Given the description of an element on the screen output the (x, y) to click on. 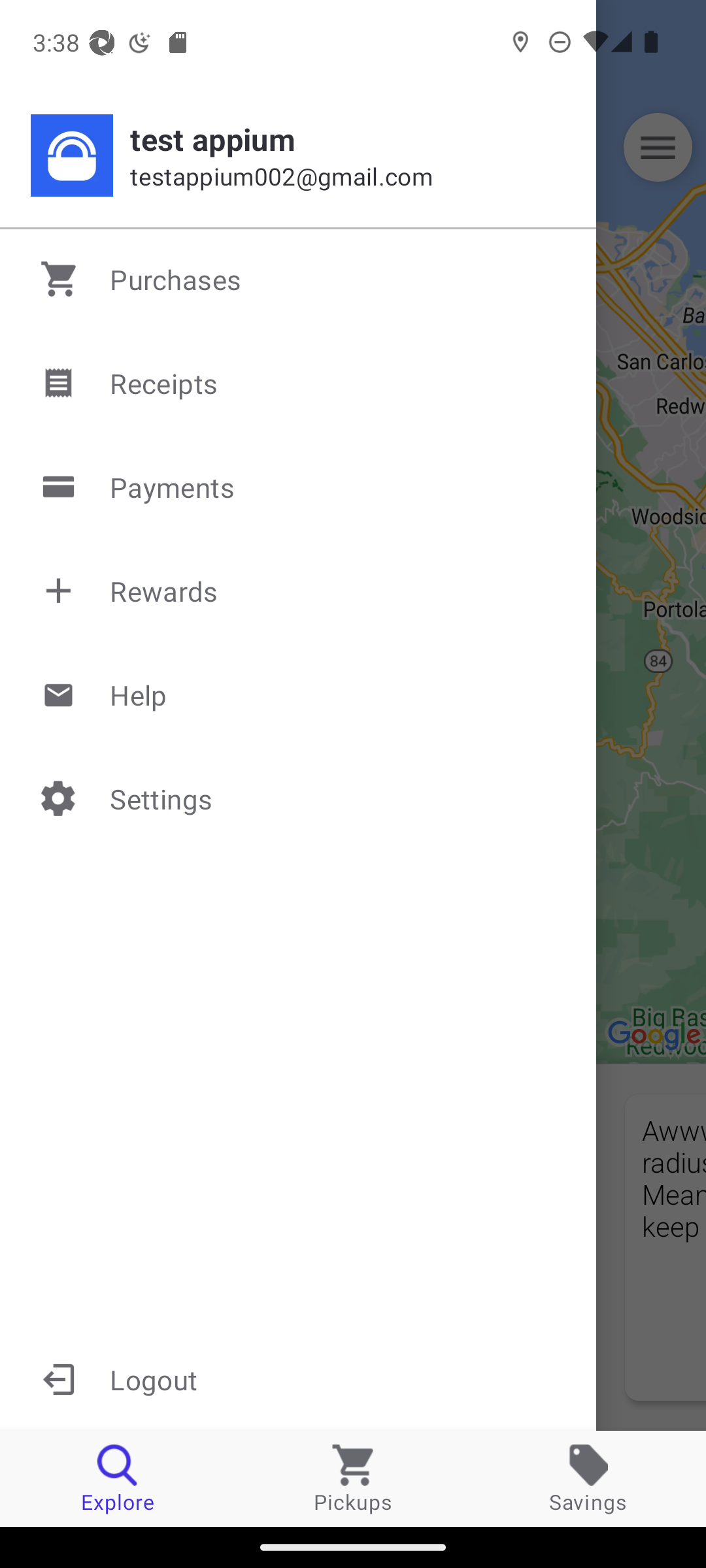
Purchases (299, 278)
Receipts (299, 382)
Payments (299, 487)
Rewards (299, 590)
Help (299, 694)
Settings (299, 797)
Logout (297, 1379)
Pickups (352, 1478)
Savings (588, 1478)
